Given the description of an element on the screen output the (x, y) to click on. 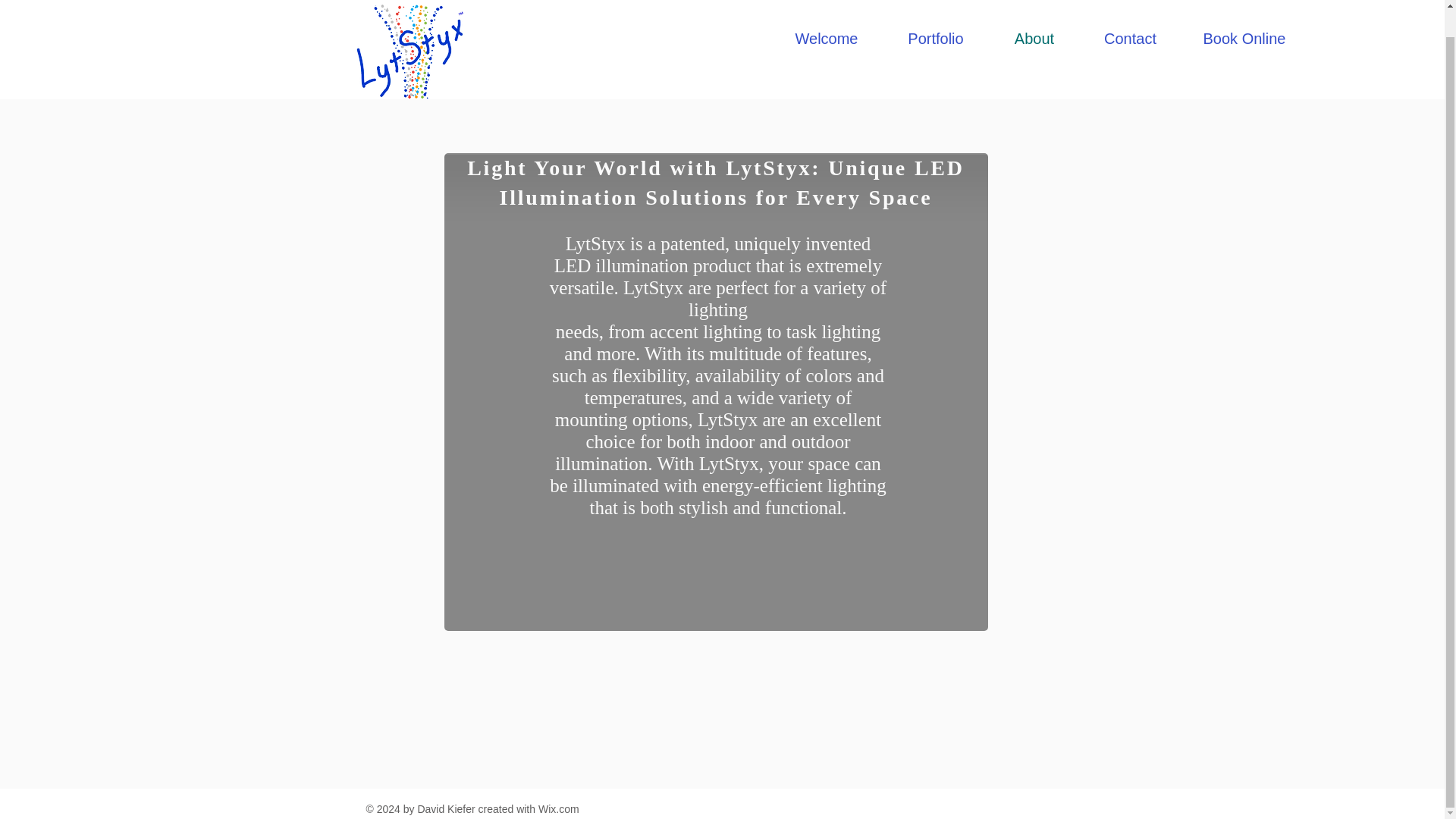
Contact (1130, 15)
Portfolio (936, 15)
Book Online (1243, 15)
Welcome (826, 15)
About (1033, 15)
Wix.com (558, 808)
